Given the description of an element on the screen output the (x, y) to click on. 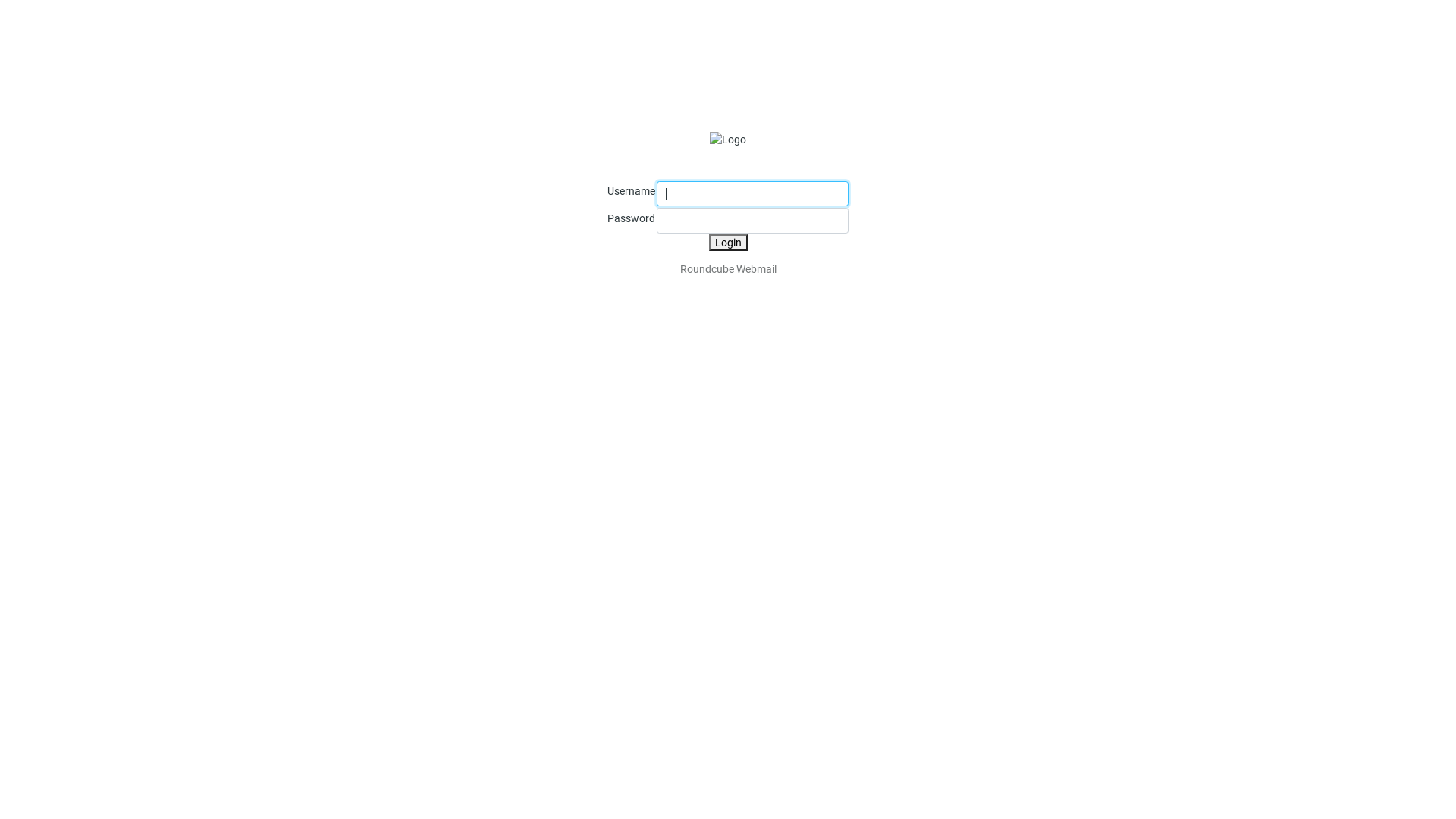
Login Element type: text (727, 242)
